Given the description of an element on the screen output the (x, y) to click on. 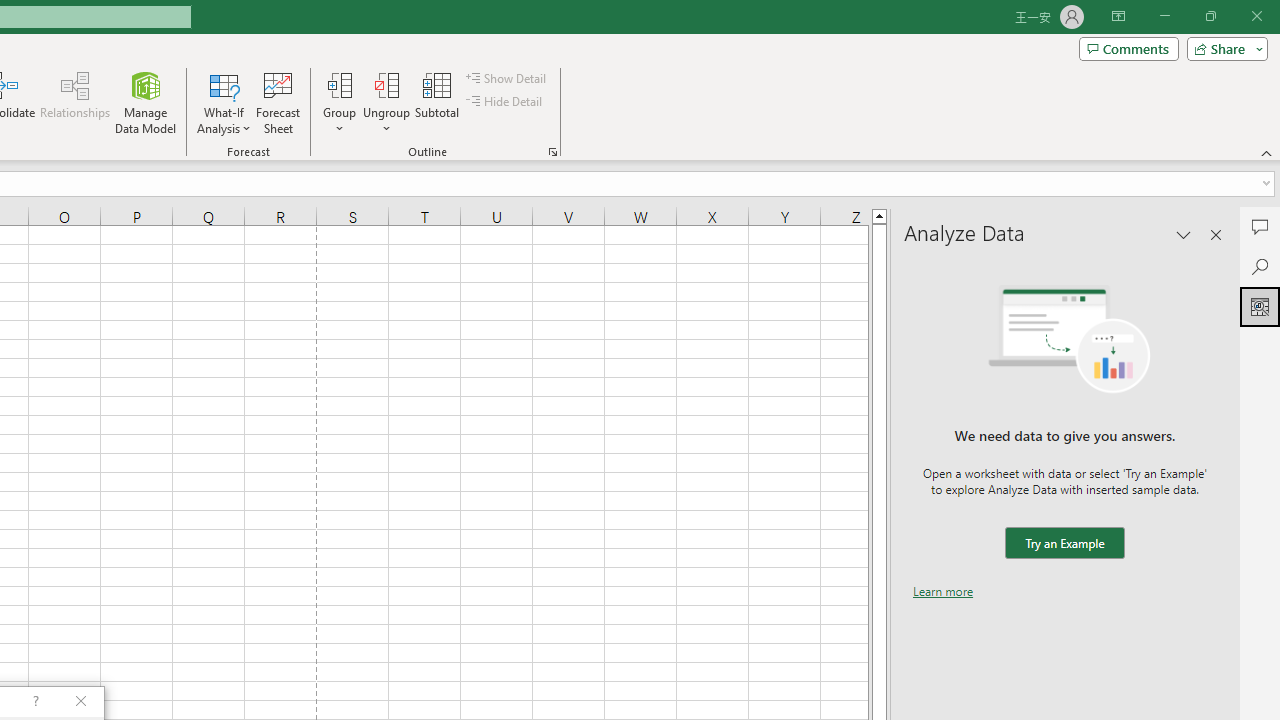
Share (1223, 48)
Task Pane Options (1183, 234)
Analyze Data (1260, 306)
Ungroup... (386, 102)
Search (1260, 266)
Restore Down (1210, 16)
Show Detail (507, 78)
Minimize (1164, 16)
Comments (1260, 226)
Close pane (1215, 234)
Subtotal (437, 102)
Group... (339, 84)
Group... (339, 102)
